Given the description of an element on the screen output the (x, y) to click on. 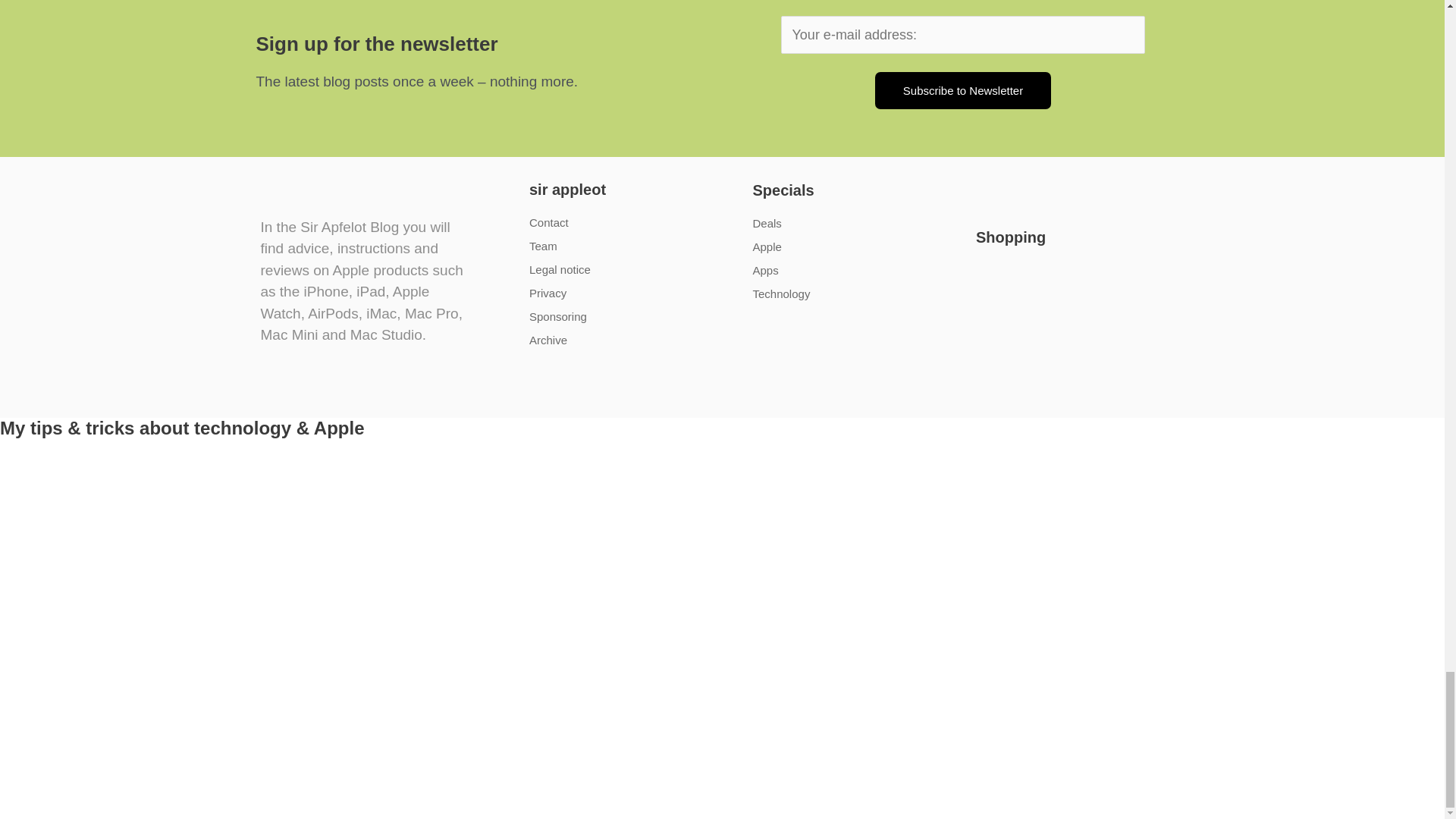
Subscribe to Newsletter (963, 90)
